Given the description of an element on the screen output the (x, y) to click on. 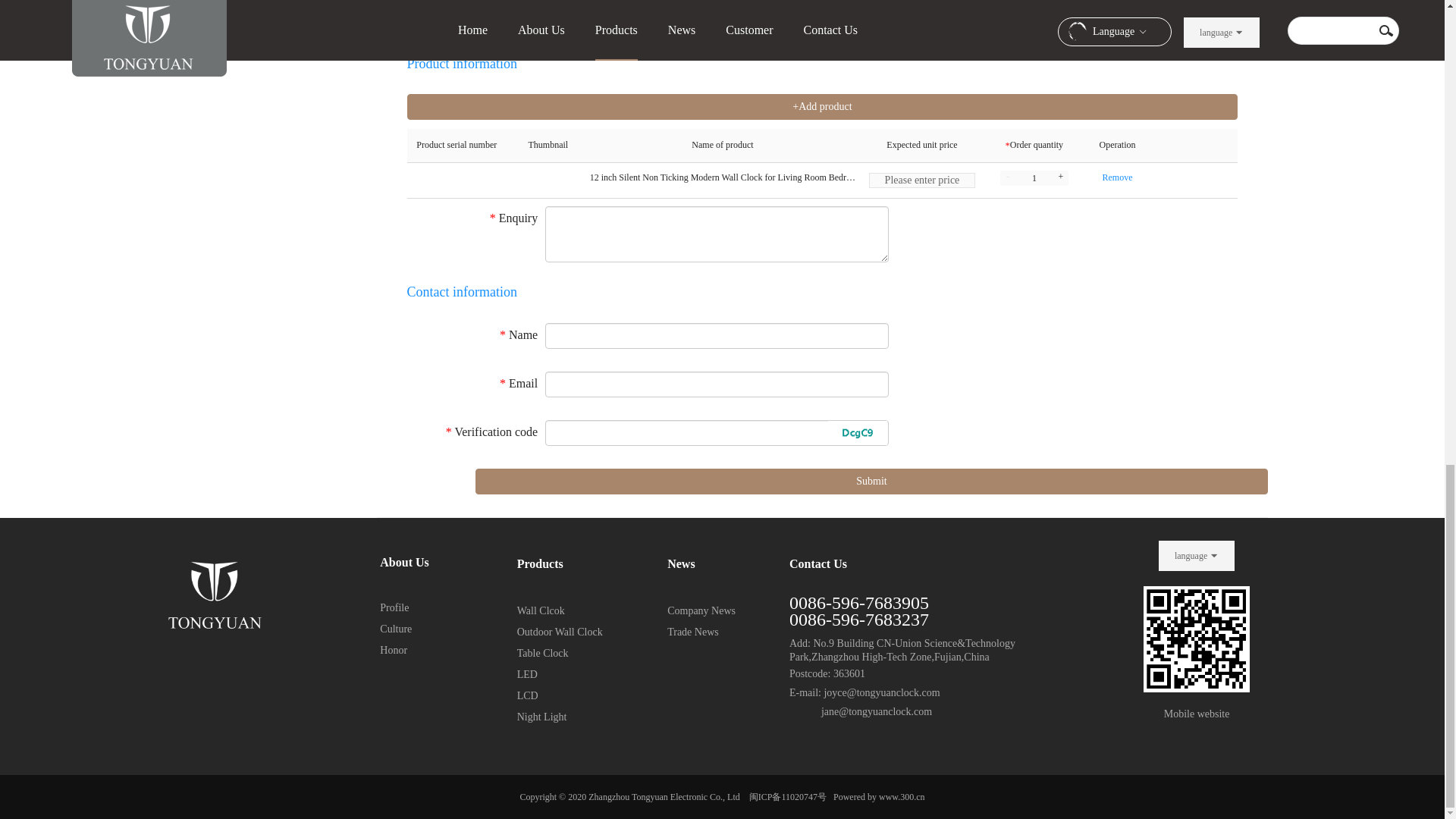
Tongyuan (1195, 639)
1 (1033, 177)
Tongyuan (215, 588)
